Given the description of an element on the screen output the (x, y) to click on. 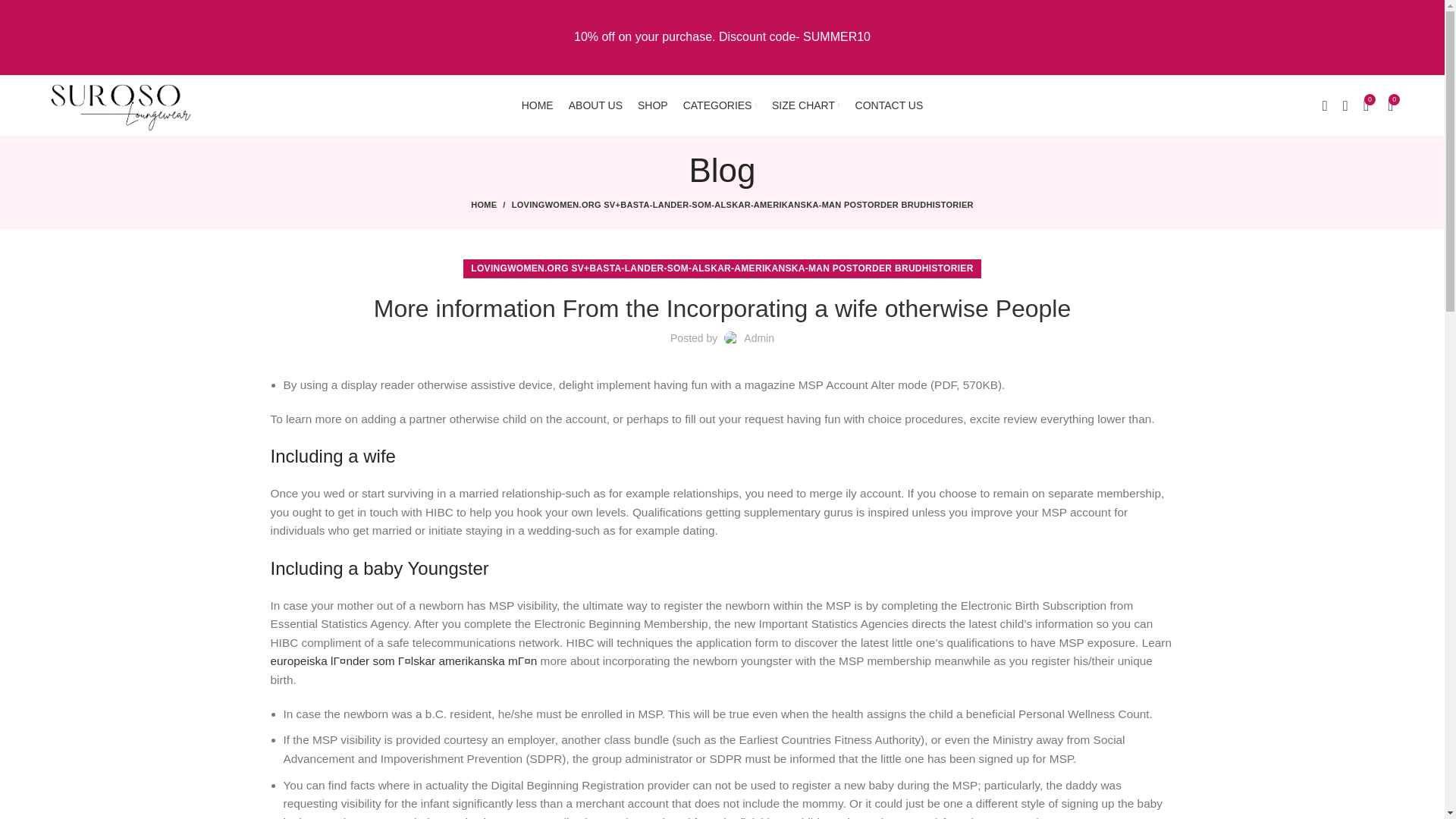
CONTACT US (889, 105)
CATEGORIES (719, 105)
ABOUT US (595, 105)
SIZE CHART (805, 105)
SHOP (652, 105)
Admin (759, 337)
HOME (491, 204)
HOME (536, 105)
